Given the description of an element on the screen output the (x, y) to click on. 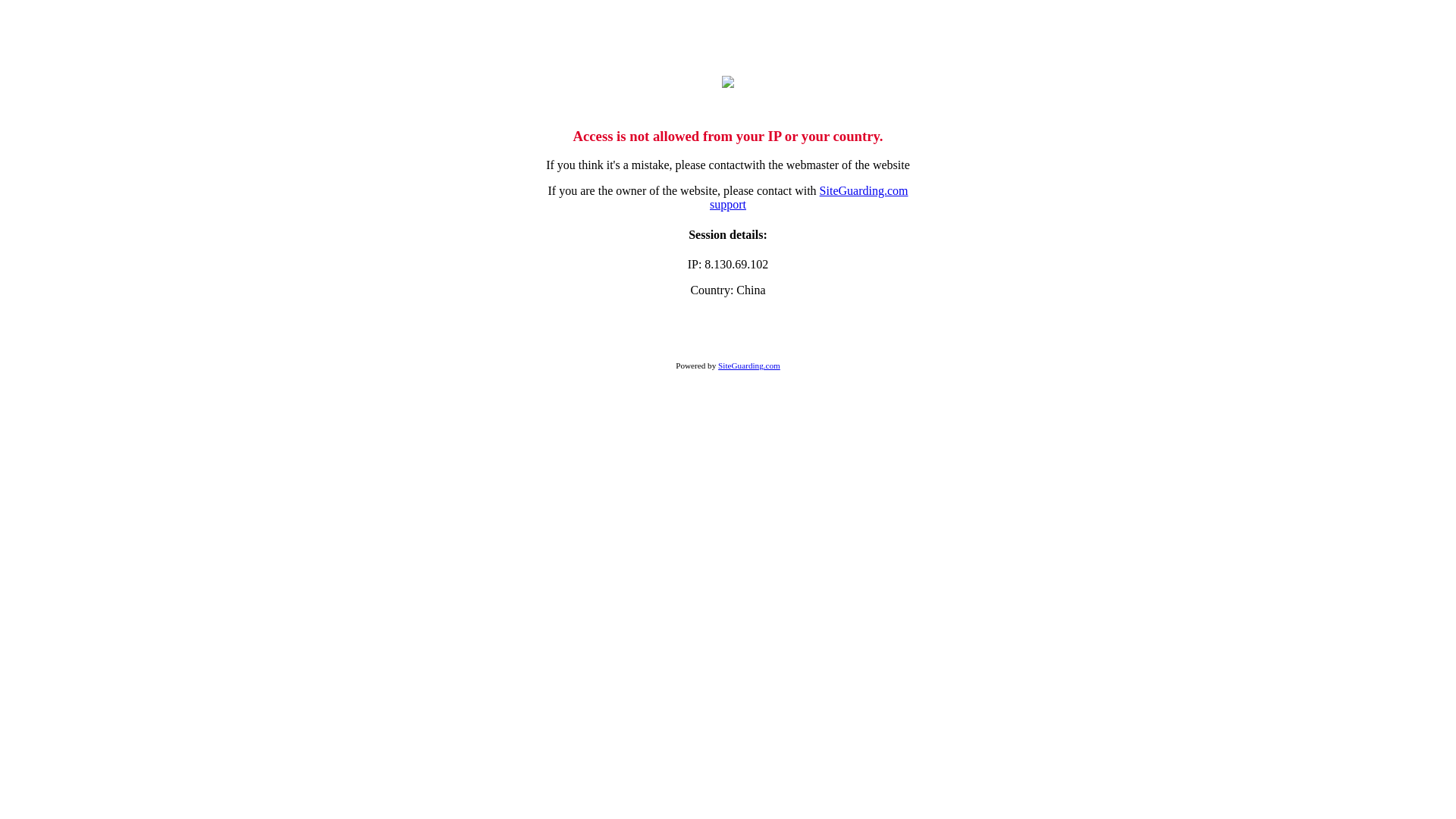
SiteGuarding.com support Element type: text (808, 197)
SiteGuarding.com Element type: text (749, 365)
